Given the description of an element on the screen output the (x, y) to click on. 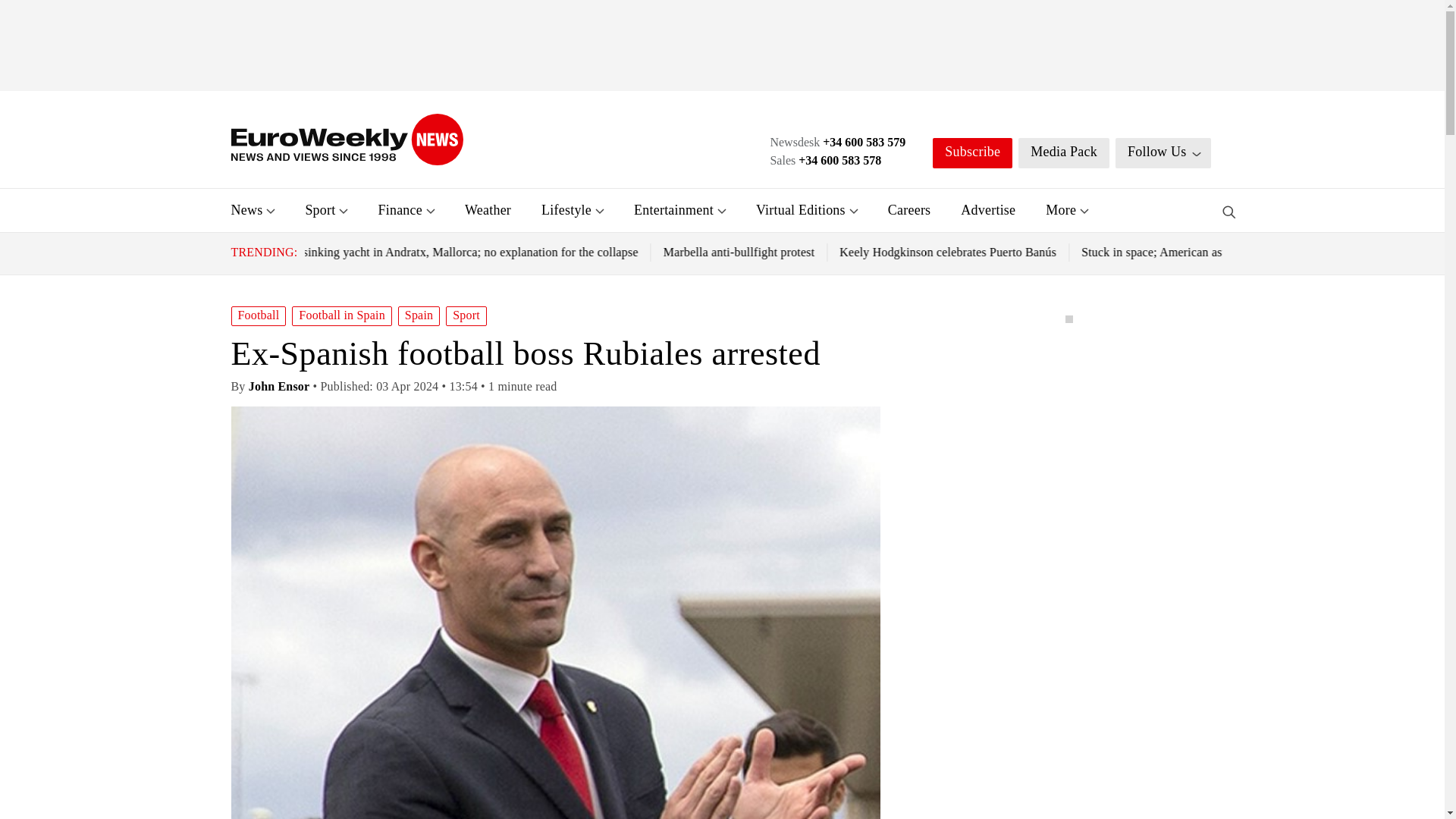
Follow Us (1163, 153)
Media Pack (1063, 153)
News (246, 209)
Subscribe (972, 153)
